Given the description of an element on the screen output the (x, y) to click on. 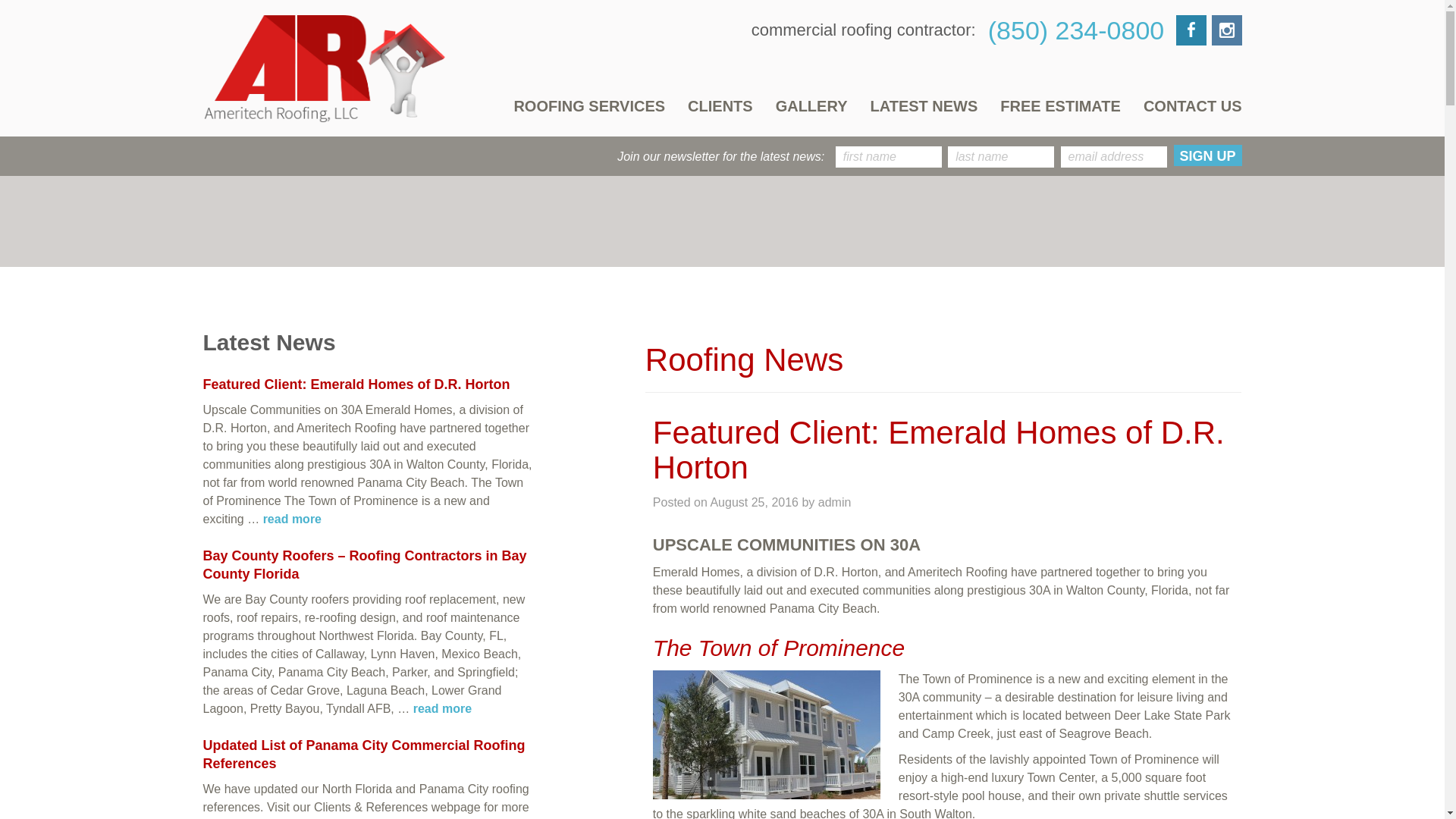
ROOFING SERVICES (595, 105)
Featured Client: Emerald Homes of D.R. Horton (938, 449)
read more (292, 518)
GALLERY (811, 105)
admin (834, 502)
Sign Up (1207, 155)
LATEST NEWS (923, 105)
Updated List of Panama City Commercial Roofing References (364, 753)
Featured Client: Emerald Homes of D.R. Horton (357, 384)
August 25, 2016 (753, 502)
